Given the description of an element on the screen output the (x, y) to click on. 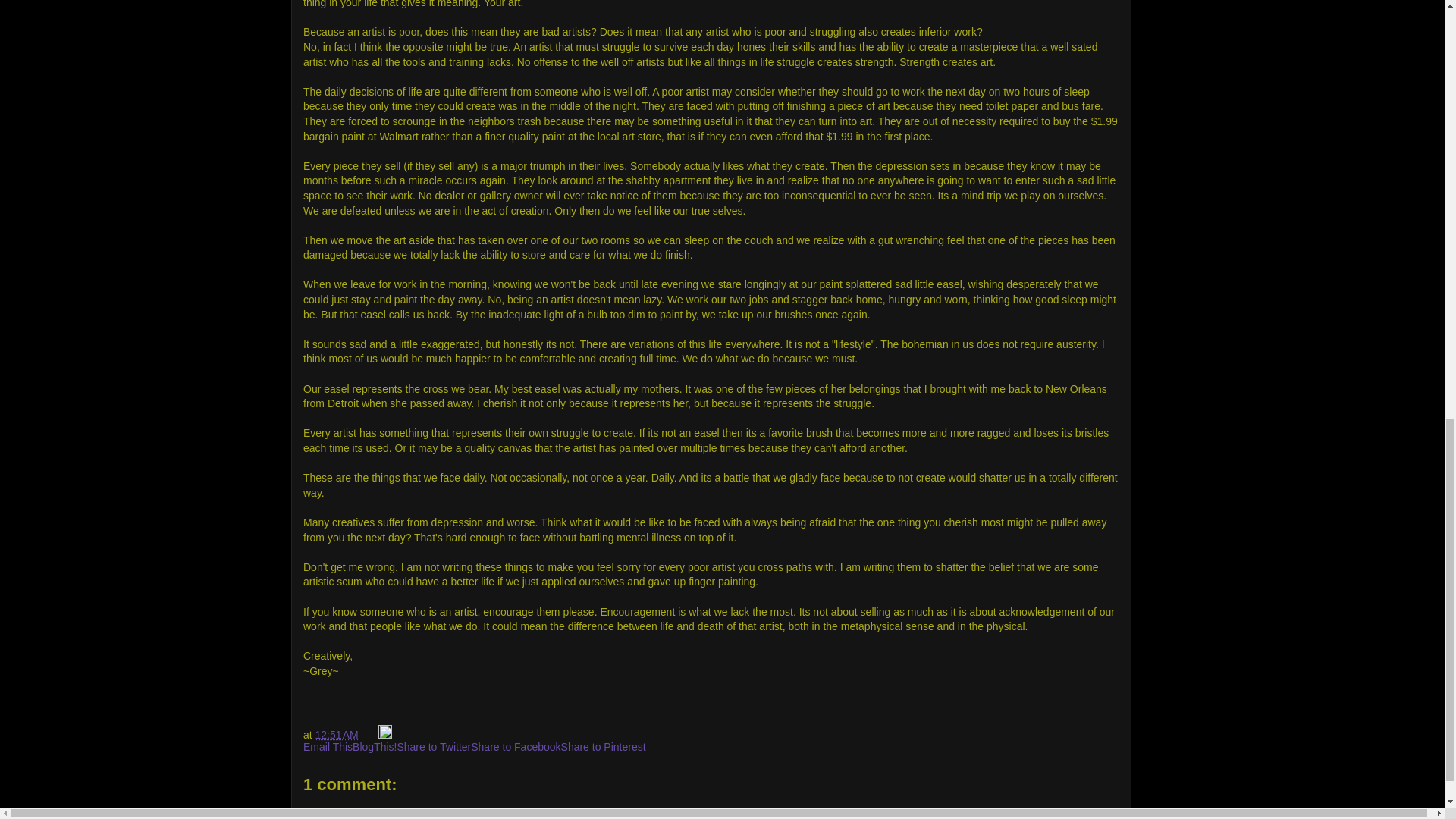
permanent link (336, 734)
Share to Pinterest (603, 746)
Share to Twitter (433, 746)
BlogThis! (374, 746)
Share to Facebook (515, 746)
Edit Post (384, 734)
BlogThis! (374, 746)
Share to Pinterest (603, 746)
Email This (327, 746)
